Given the description of an element on the screen output the (x, y) to click on. 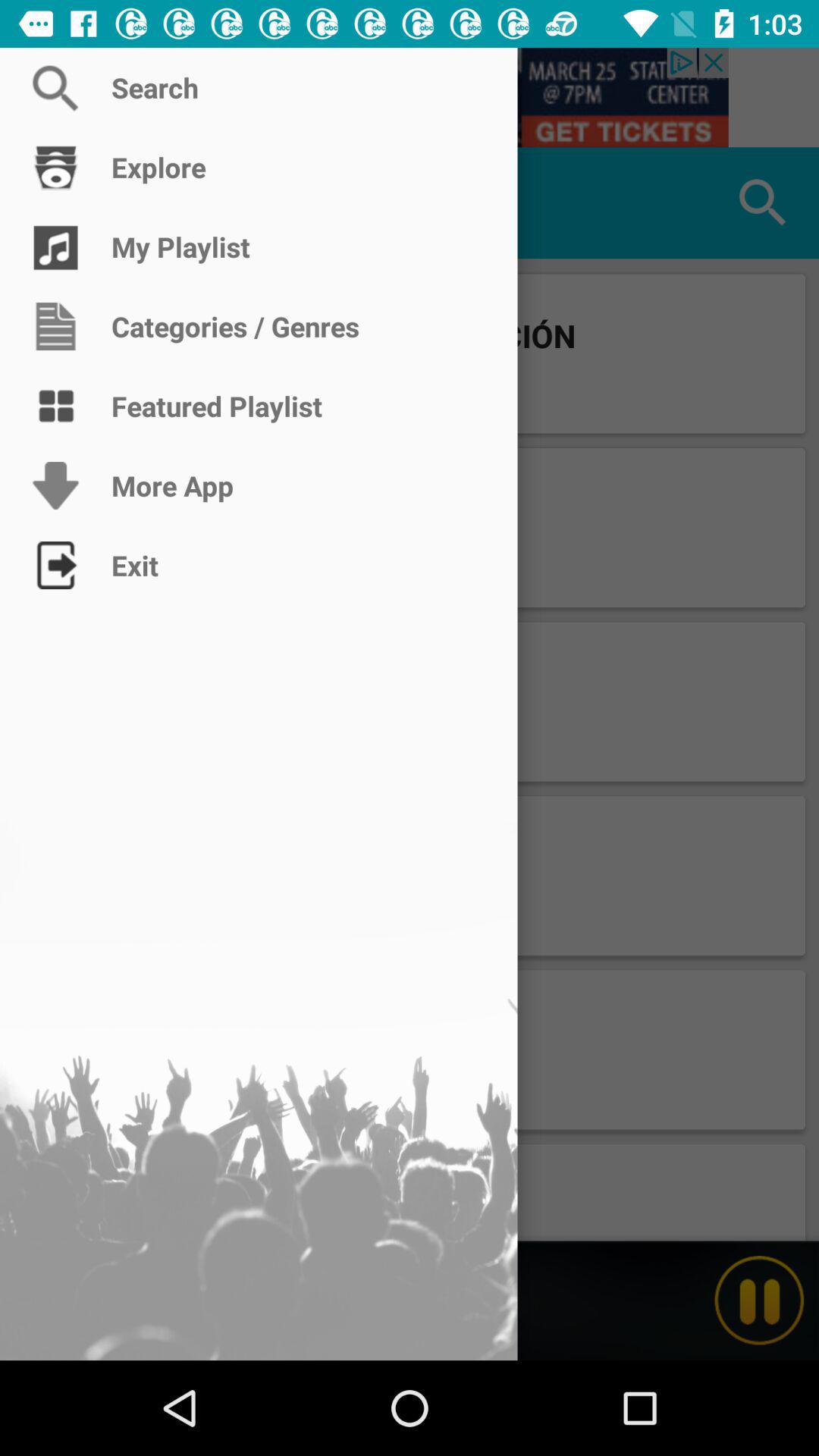
pause current playing (759, 1300)
